Given the description of an element on the screen output the (x, y) to click on. 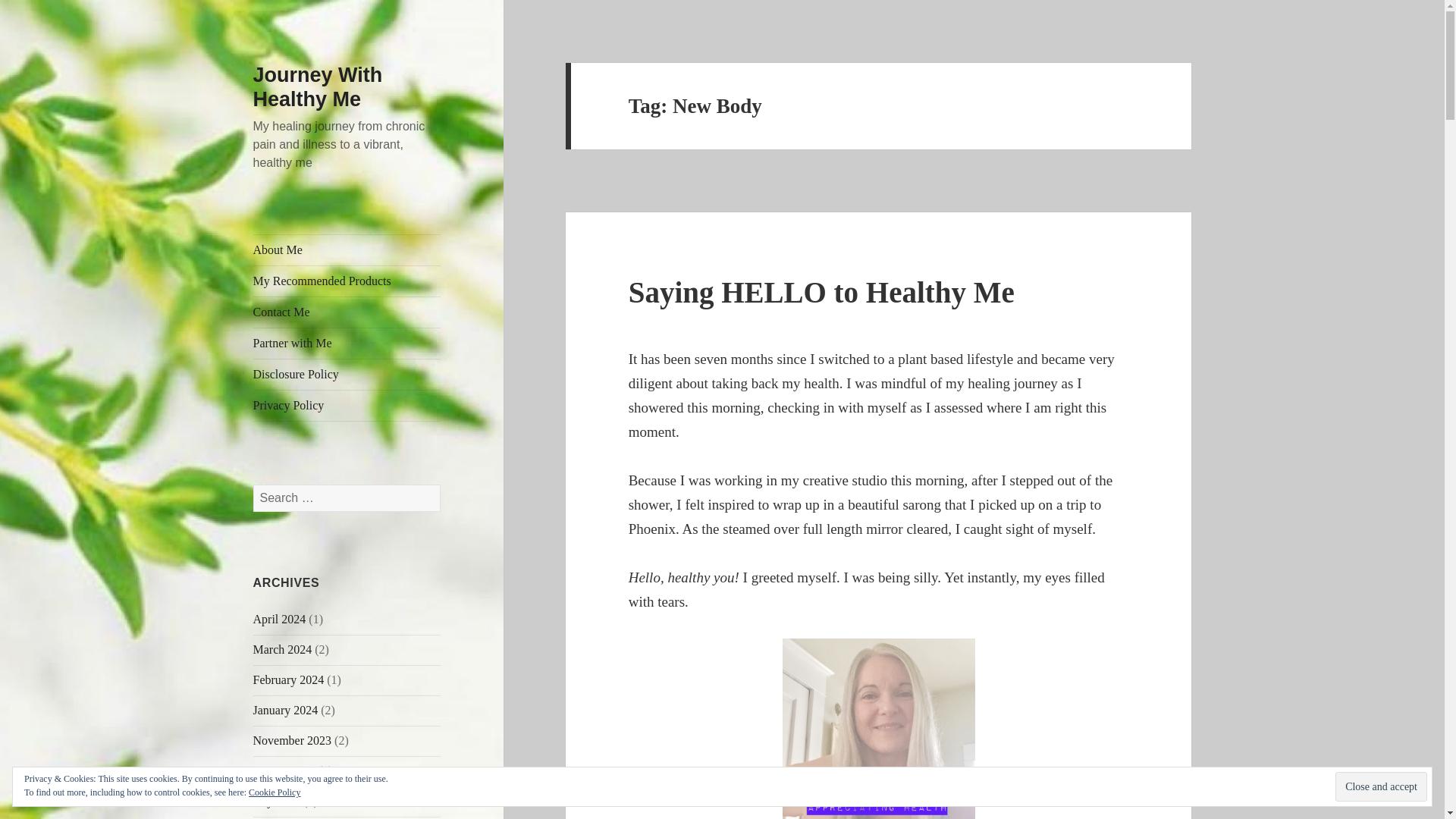
April 2024 (279, 618)
Journey With Healthy Me (317, 86)
Privacy Policy (347, 405)
Partner with Me (347, 343)
7 months months on a plant based lifestyle (879, 728)
Contact Me (347, 312)
March 2024 (283, 649)
Disclosure Policy (347, 374)
February 2024 (288, 679)
My Recommended Products (347, 281)
About Me (347, 250)
January 2024 (285, 709)
August 2023 (284, 770)
